Given the description of an element on the screen output the (x, y) to click on. 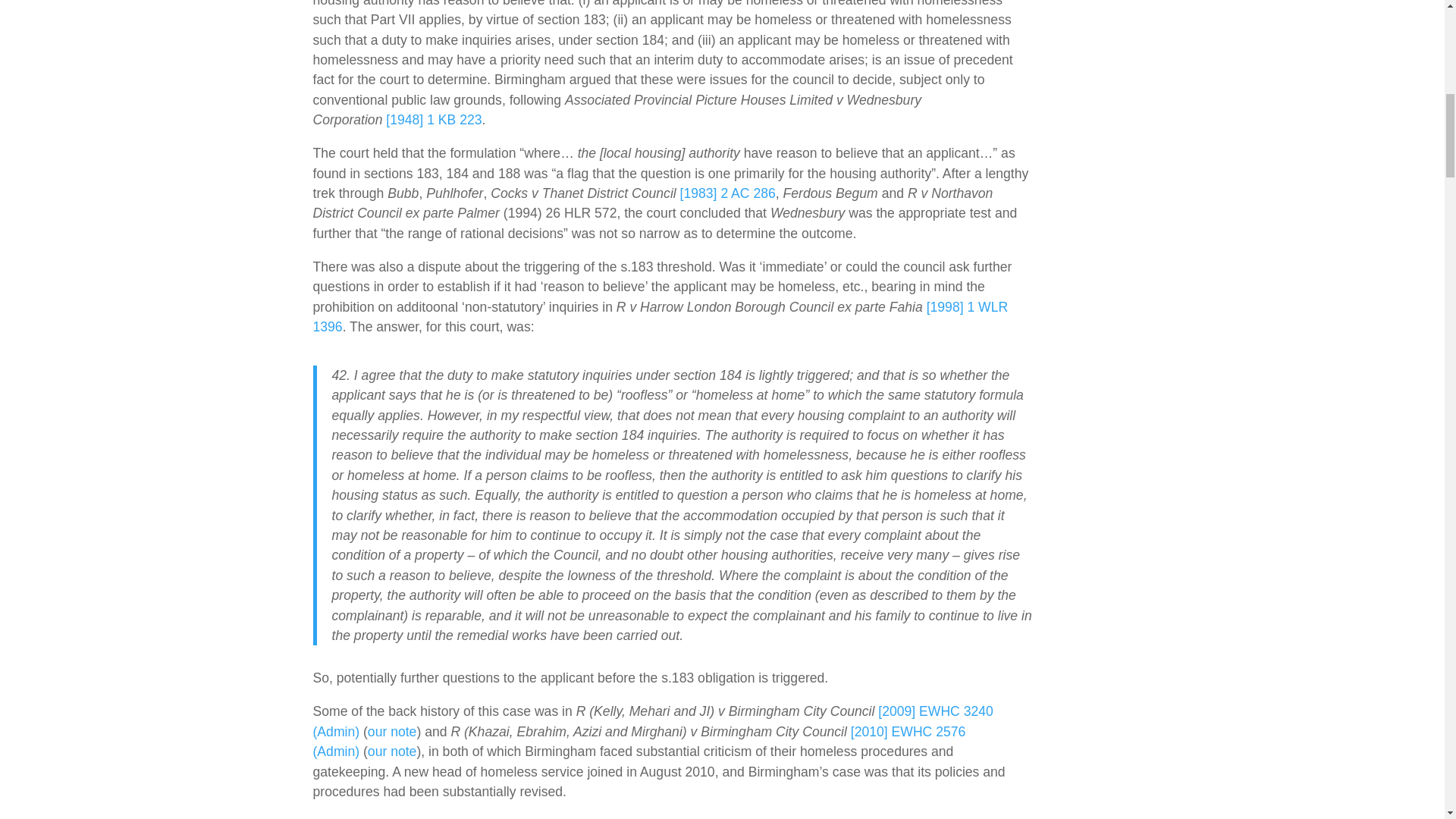
Link to BAILII version (639, 741)
Link to BAILII version (652, 720)
Link to BAILII version (727, 192)
Link to BAILII version (433, 119)
Link to BAILII version (660, 316)
